Given the description of an element on the screen output the (x, y) to click on. 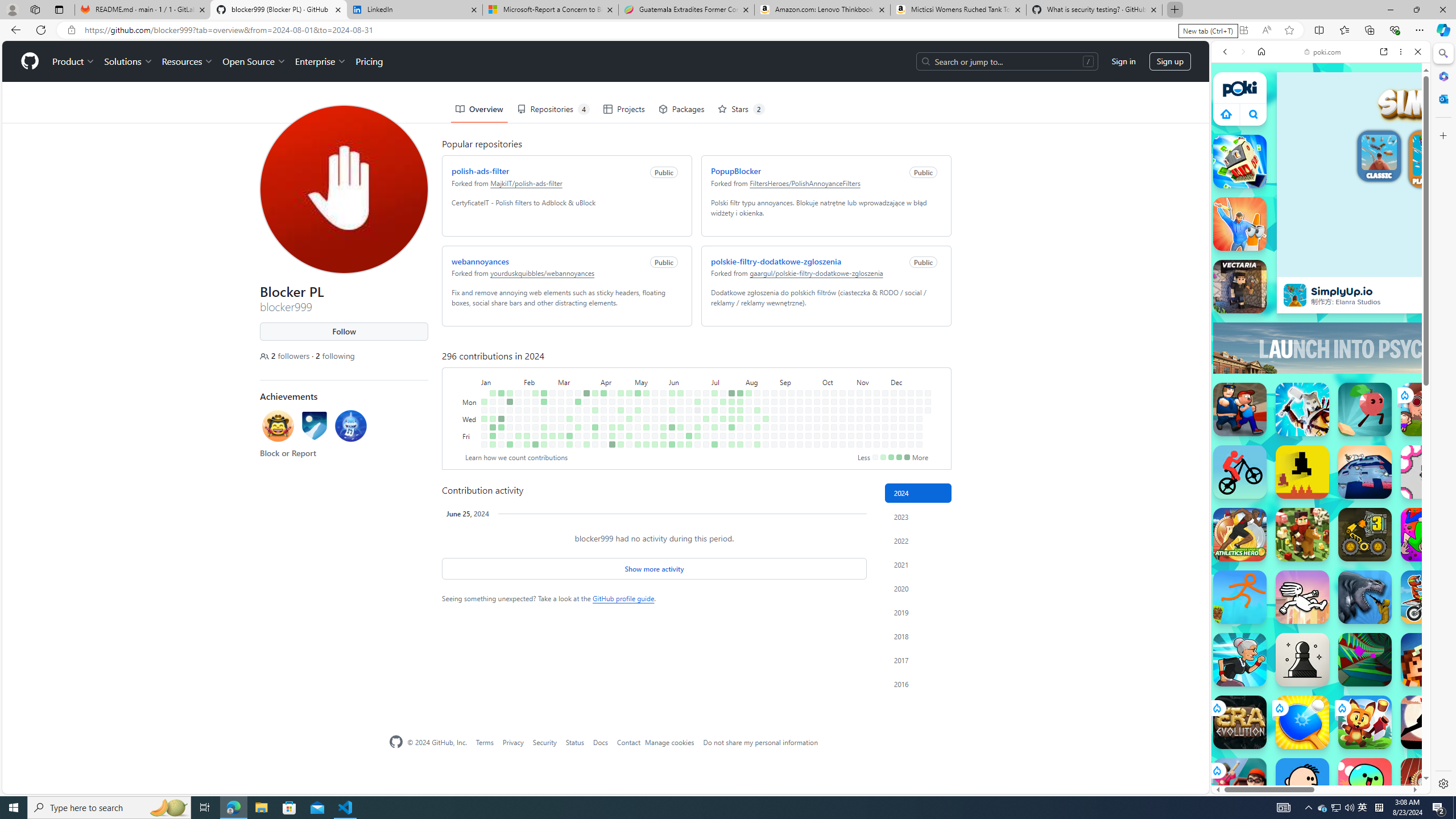
SUBWAY SURFERS - Play Online for Free! | Poki (1315, 765)
No contributions on March 25th. (586, 401)
Escape From School (1239, 409)
MajkiIT/polish-ads-filter (526, 182)
webannoyances (480, 260)
No contributions on November 23rd. (876, 444)
No contributions on May 28th. (663, 410)
1 contribution on March 8th. (560, 435)
2017 (917, 659)
Poki - Free Online Games - Play Now! (1315, 175)
No contributions on October 11th. (825, 435)
Apple Knight: Farmers Market (1302, 534)
No contributions on March 14th. (569, 427)
